Given the description of an element on the screen output the (x, y) to click on. 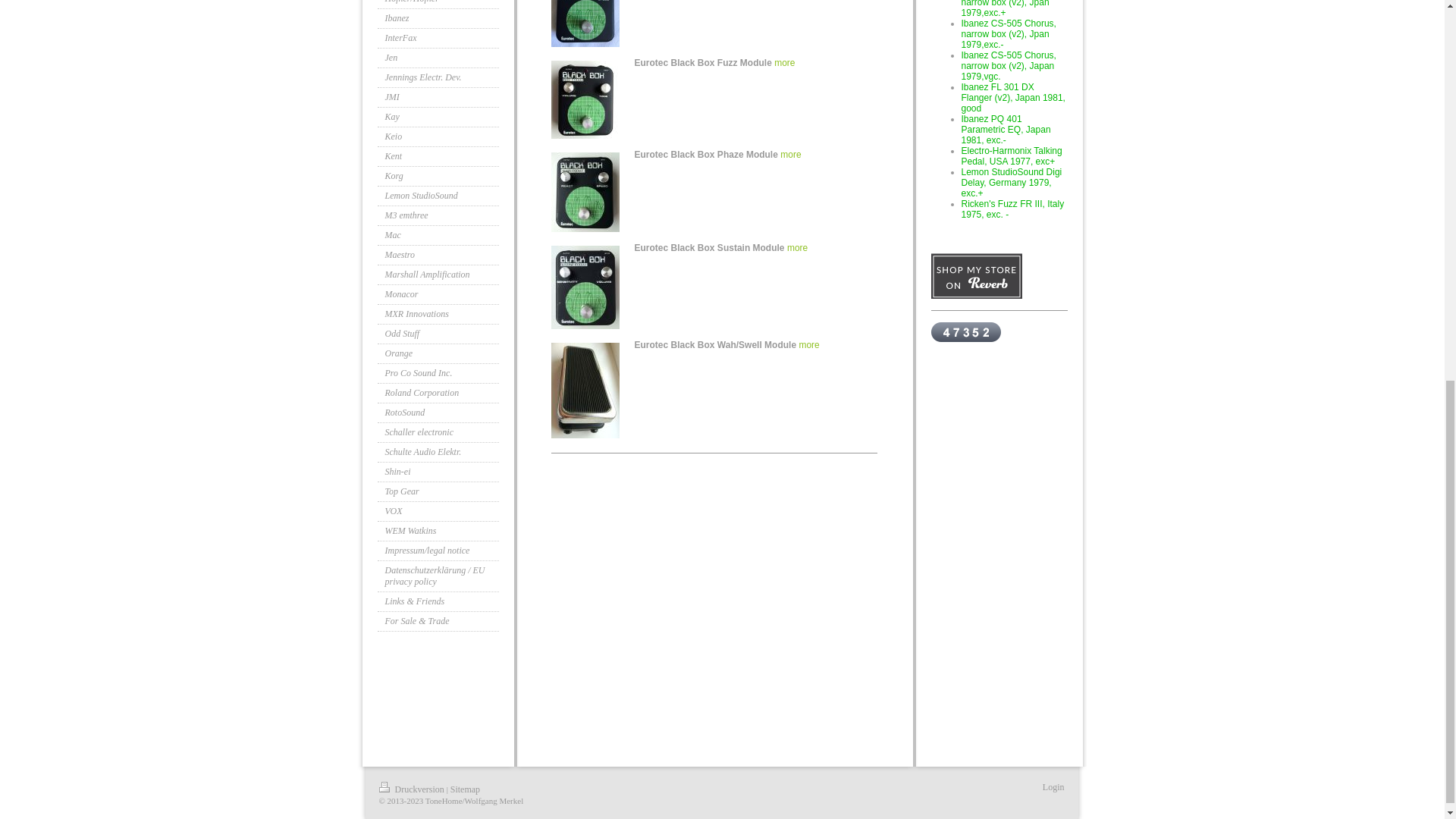
Keio (438, 137)
Jen (438, 57)
Mac (438, 235)
M3 emthree (438, 216)
Maestro (438, 255)
Kent (438, 157)
Ibanez (438, 18)
Jennings Electr. Dev. (438, 77)
JMI (438, 97)
Korg (438, 176)
